Given the description of an element on the screen output the (x, y) to click on. 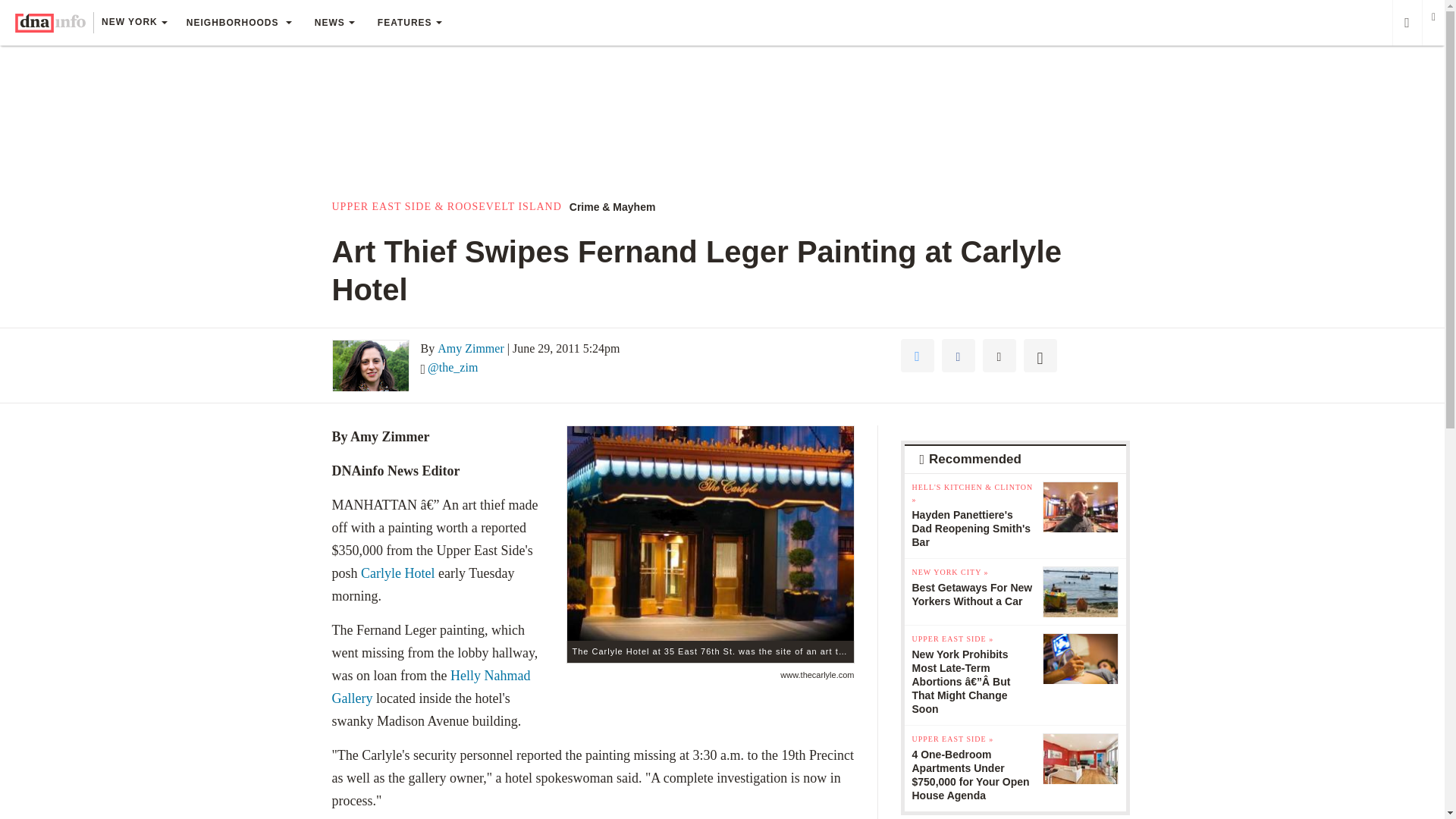
New York - Home (49, 22)
NEIGHBORHOODS (238, 22)
NEW YORK (133, 23)
NEWS (334, 22)
